Given the description of an element on the screen output the (x, y) to click on. 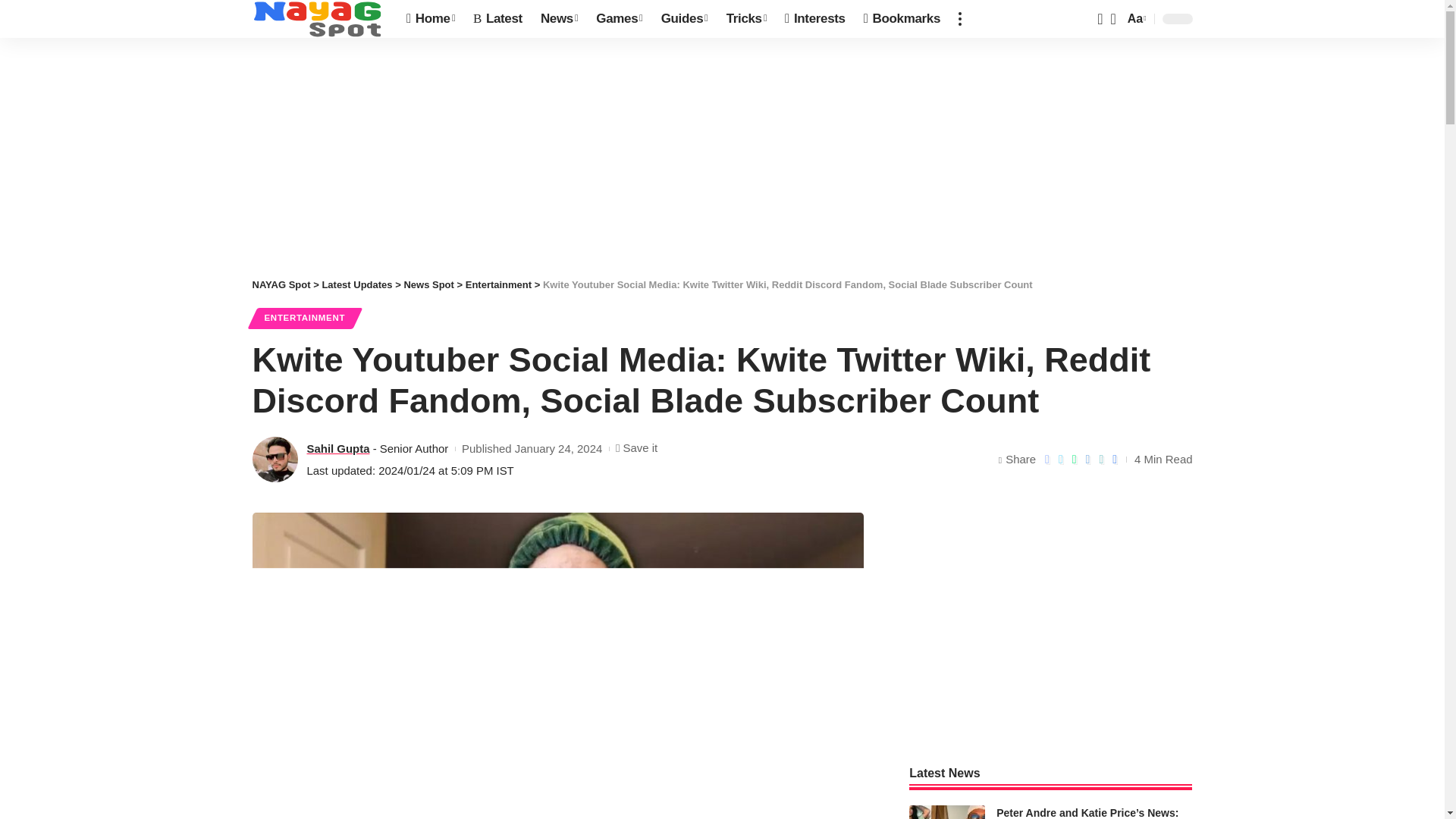
NAYAG Spot (316, 18)
Home (430, 18)
News (558, 18)
Latest (497, 18)
Guides (684, 18)
Games (618, 18)
